Given the description of an element on the screen output the (x, y) to click on. 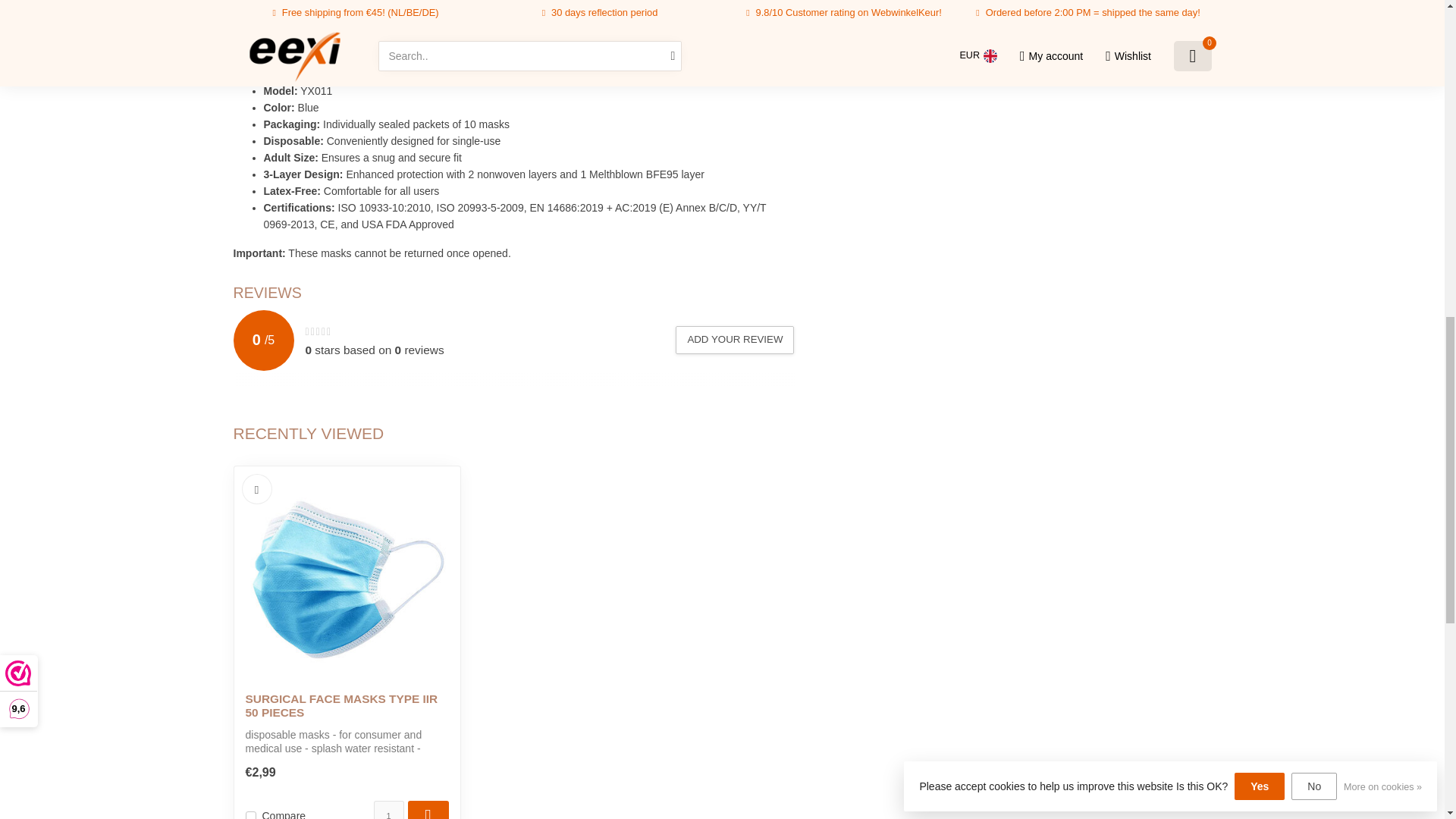
Surgical Face Masks Type IIR 50 pieces (347, 706)
1 (387, 809)
Surgical Face Masks Type IIR 50 pieces (347, 578)
